Given the description of an element on the screen output the (x, y) to click on. 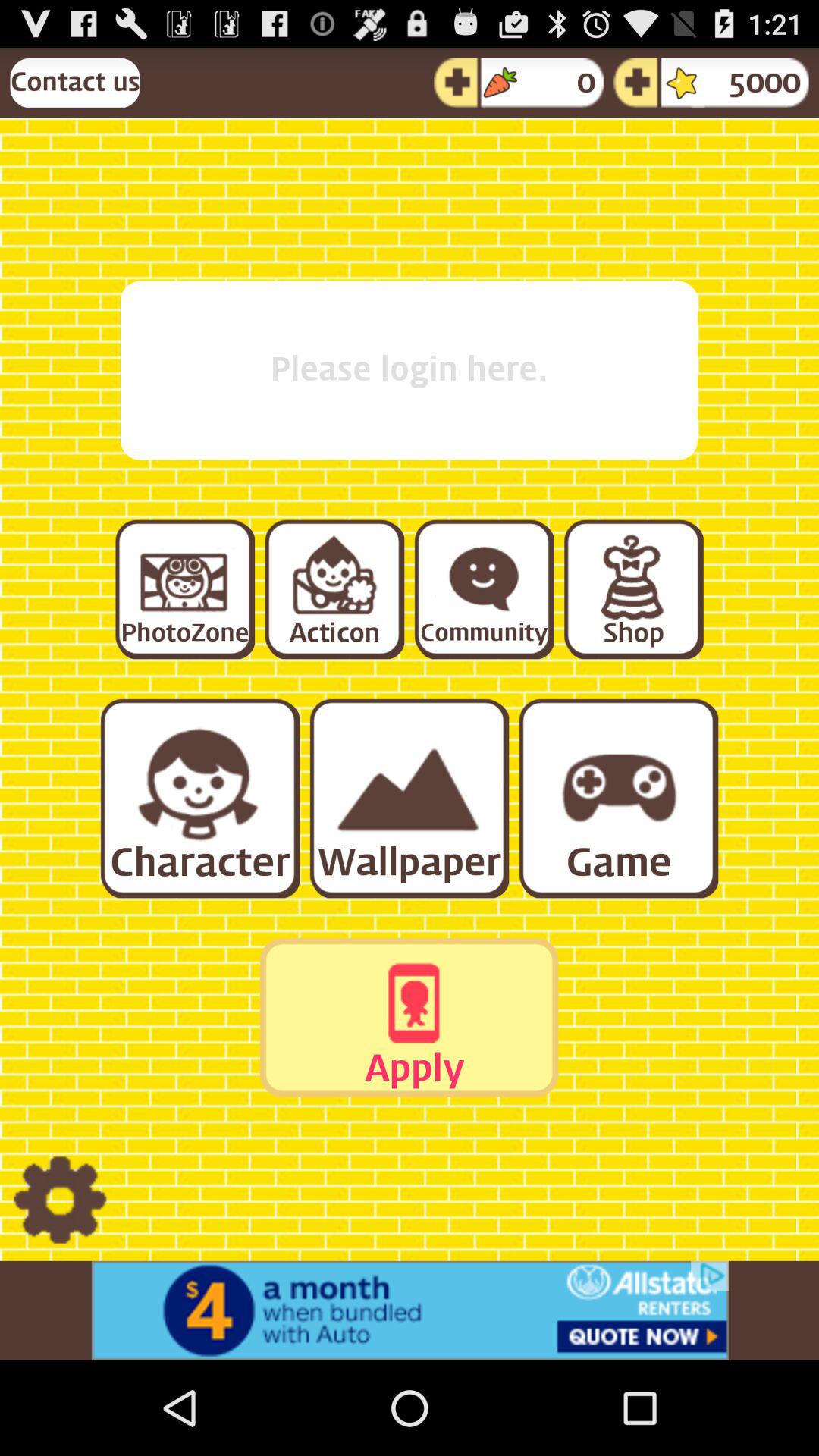
open settings (59, 1200)
